Given the description of an element on the screen output the (x, y) to click on. 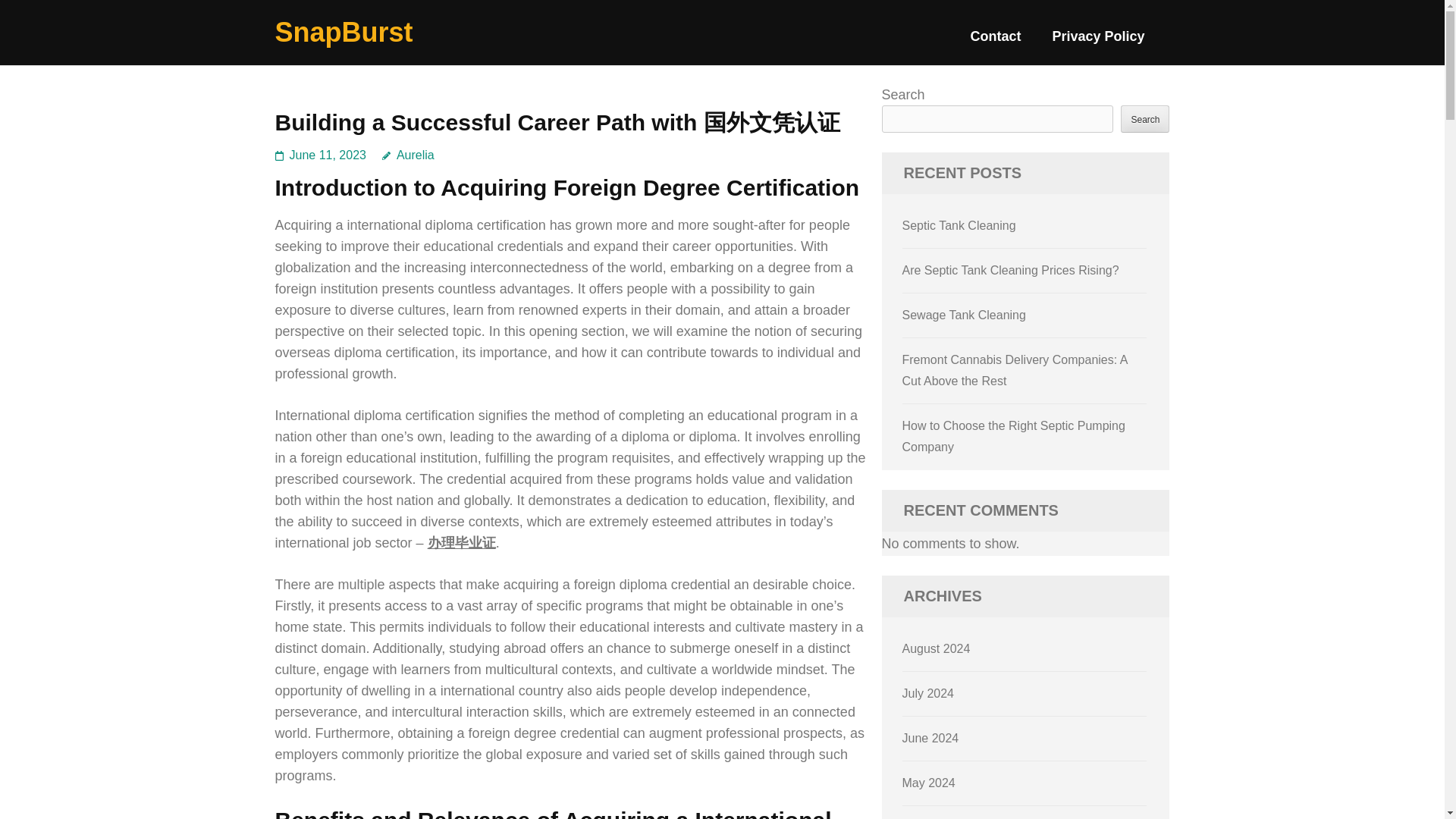
Search (1145, 118)
Are Septic Tank Cleaning Prices Rising? (1010, 269)
May 2024 (928, 782)
Aurelia (407, 154)
August 2024 (936, 648)
Sewage Tank Cleaning (964, 314)
Contact (994, 42)
SnapBurst (343, 31)
Septic Tank Cleaning (959, 225)
June 11, 2023 (327, 154)
